Given the description of an element on the screen output the (x, y) to click on. 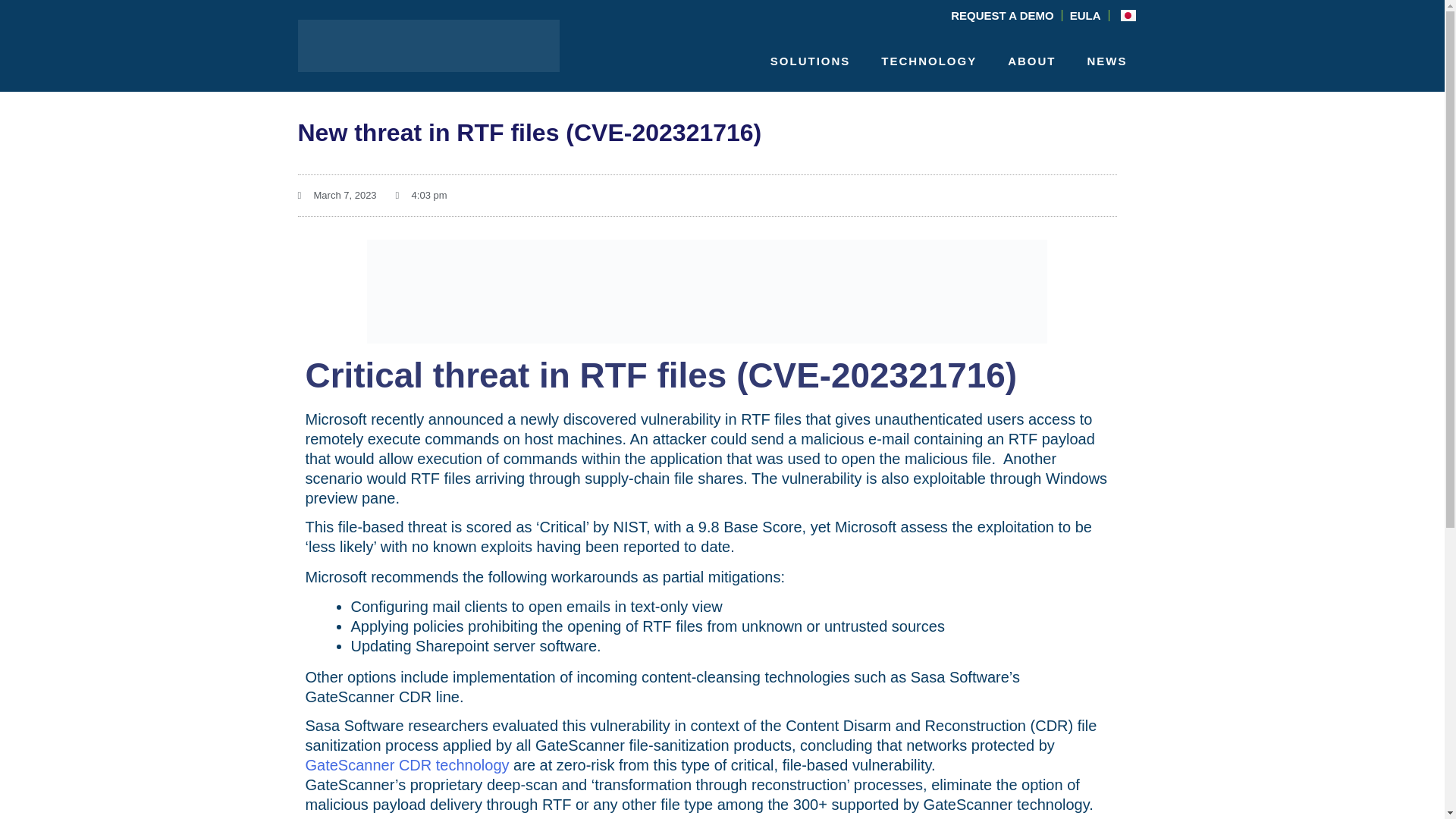
REQUEST A DEMO (1002, 15)
TECHNOLOGY (932, 60)
RTF (706, 291)
SOLUTIONS (814, 60)
